Given the description of an element on the screen output the (x, y) to click on. 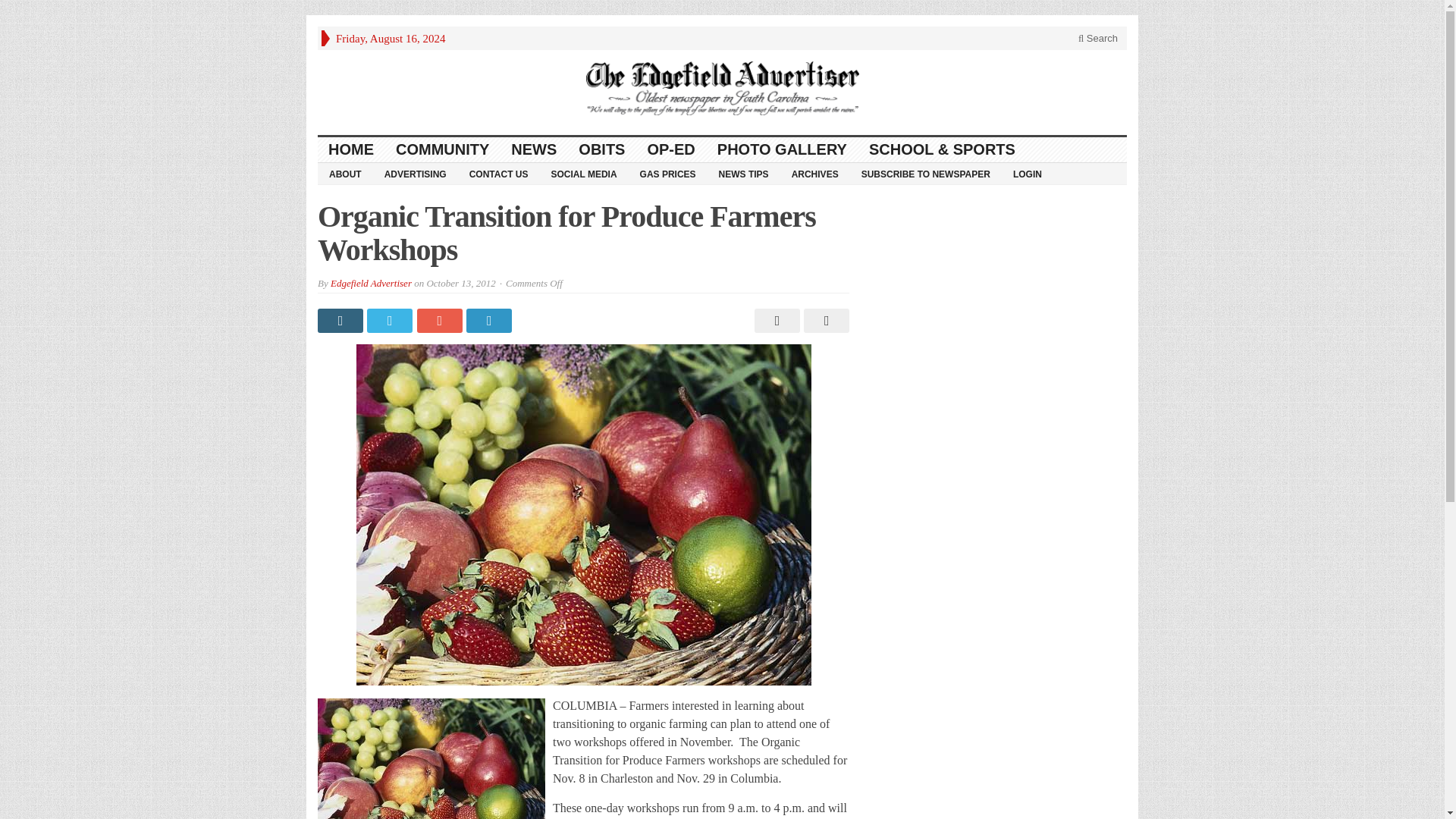
Share on Facebook (341, 320)
ADVERTISING (415, 173)
PHOTO GALLERY (782, 149)
CONTACT US (499, 173)
ABOUT (344, 173)
produce2 (430, 758)
Edgefield Advertiser (371, 283)
Print This Post (775, 320)
OP-ED (671, 149)
